Given the description of an element on the screen output the (x, y) to click on. 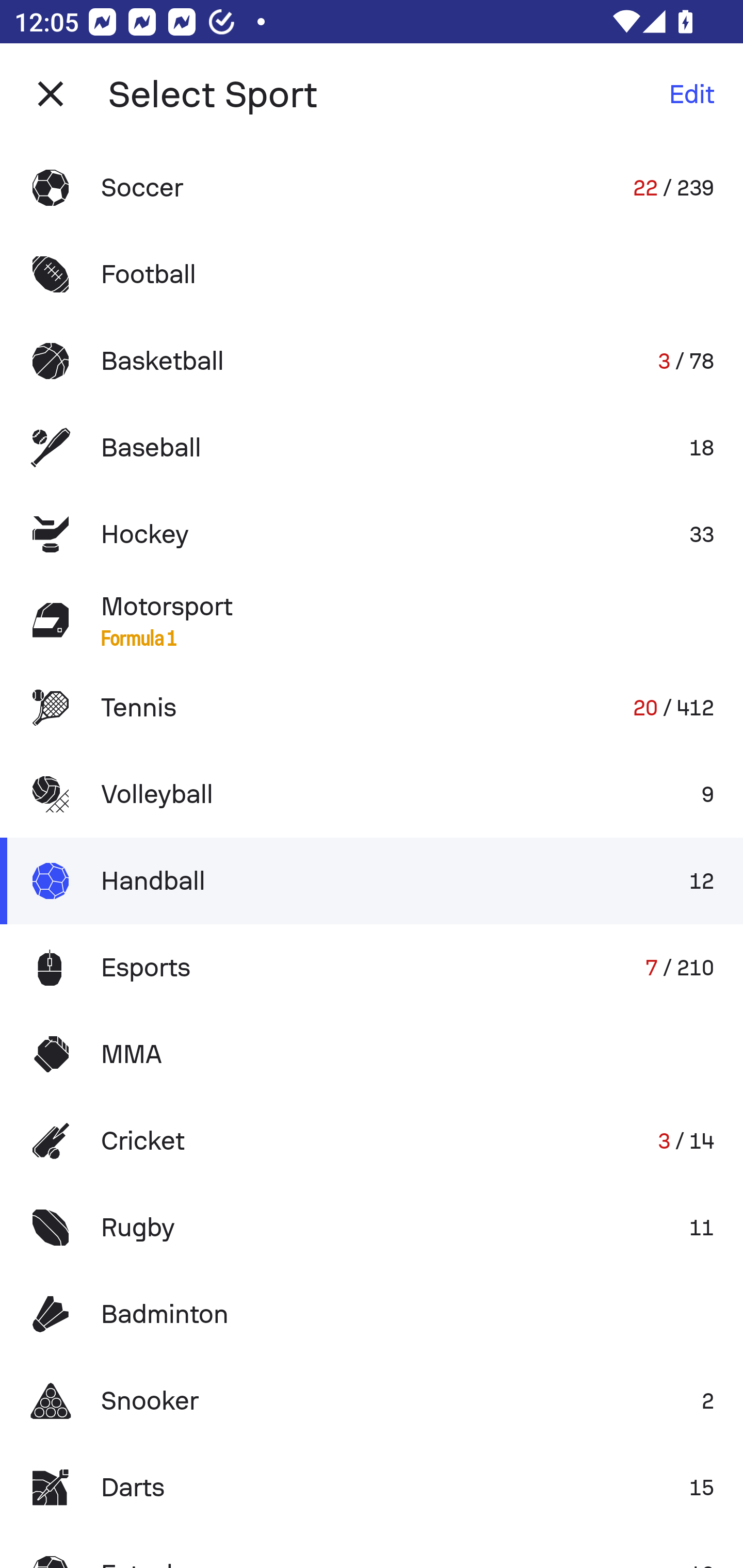
Edit (691, 93)
Soccer 22 / 239 (371, 187)
Football (371, 274)
Basketball 3 / 78 (371, 361)
Baseball 18 (371, 447)
Hockey 33 (371, 533)
Motorsport Formula 1 (371, 620)
Tennis 20 / 412 (371, 707)
Volleyball 9 (371, 794)
Handball 12 (371, 880)
Esports 7 / 210 (371, 967)
MMA (371, 1054)
Cricket 3 / 14 (371, 1140)
Rugby 11 (371, 1227)
Badminton (371, 1314)
Snooker 2 (371, 1400)
Darts 15 (371, 1487)
